Given the description of an element on the screen output the (x, y) to click on. 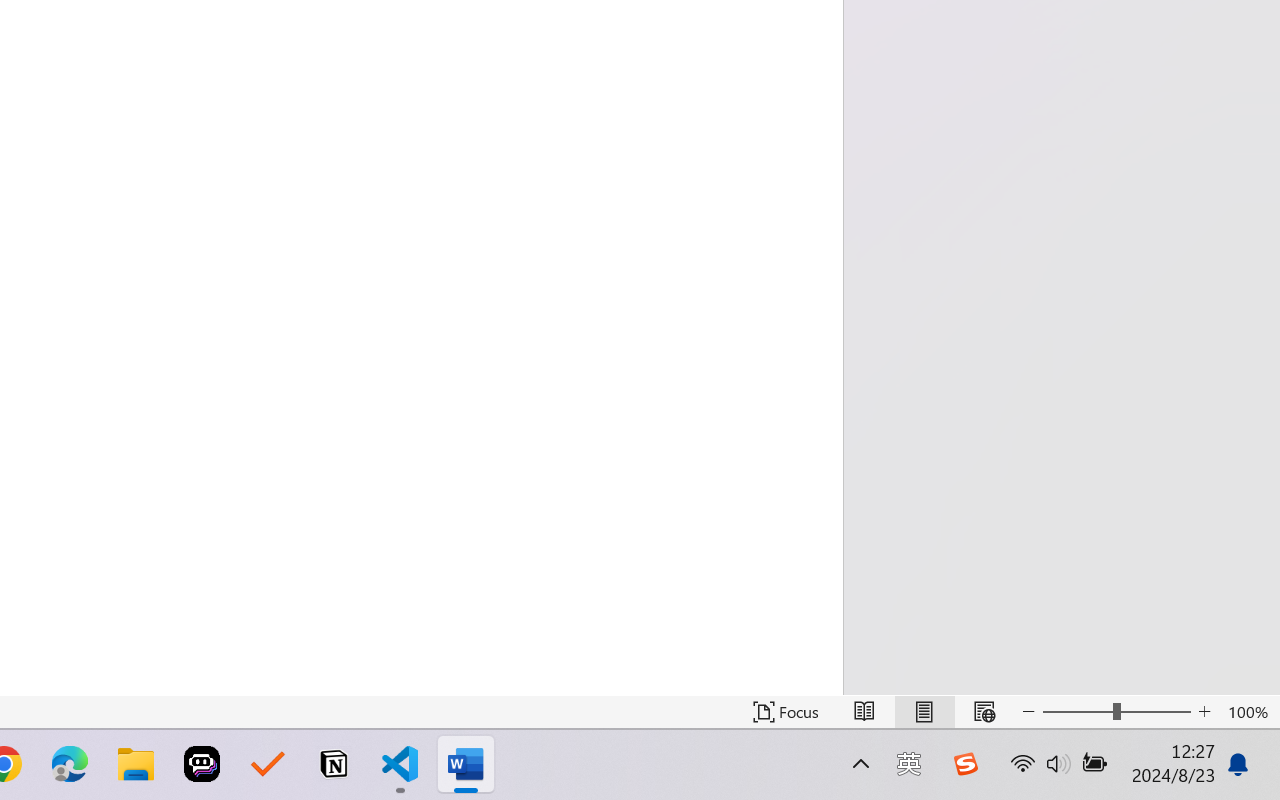
Zoom 100% (1249, 712)
